Given the description of an element on the screen output the (x, y) to click on. 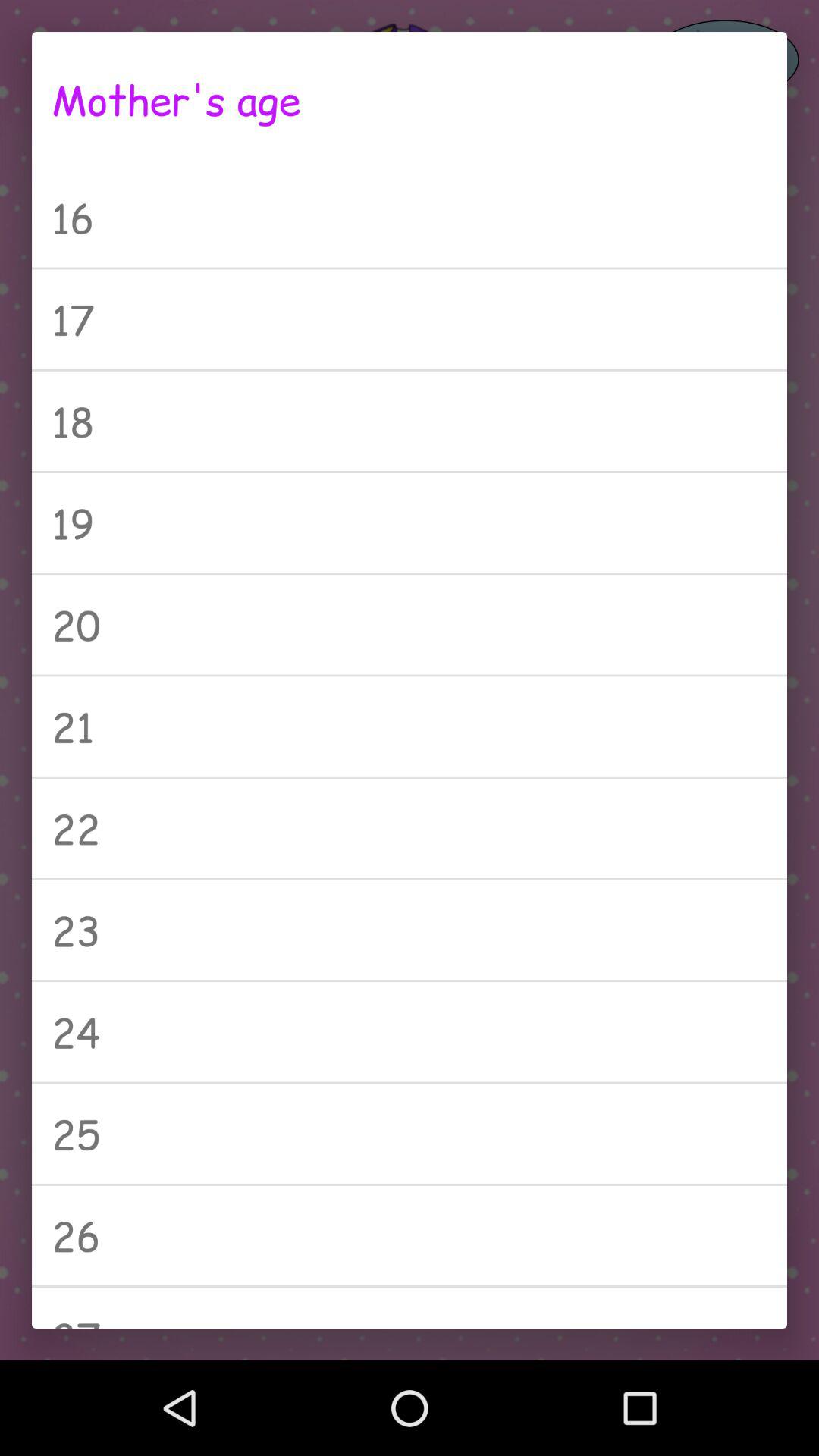
choose icon below the 20 (409, 726)
